Given the description of an element on the screen output the (x, y) to click on. 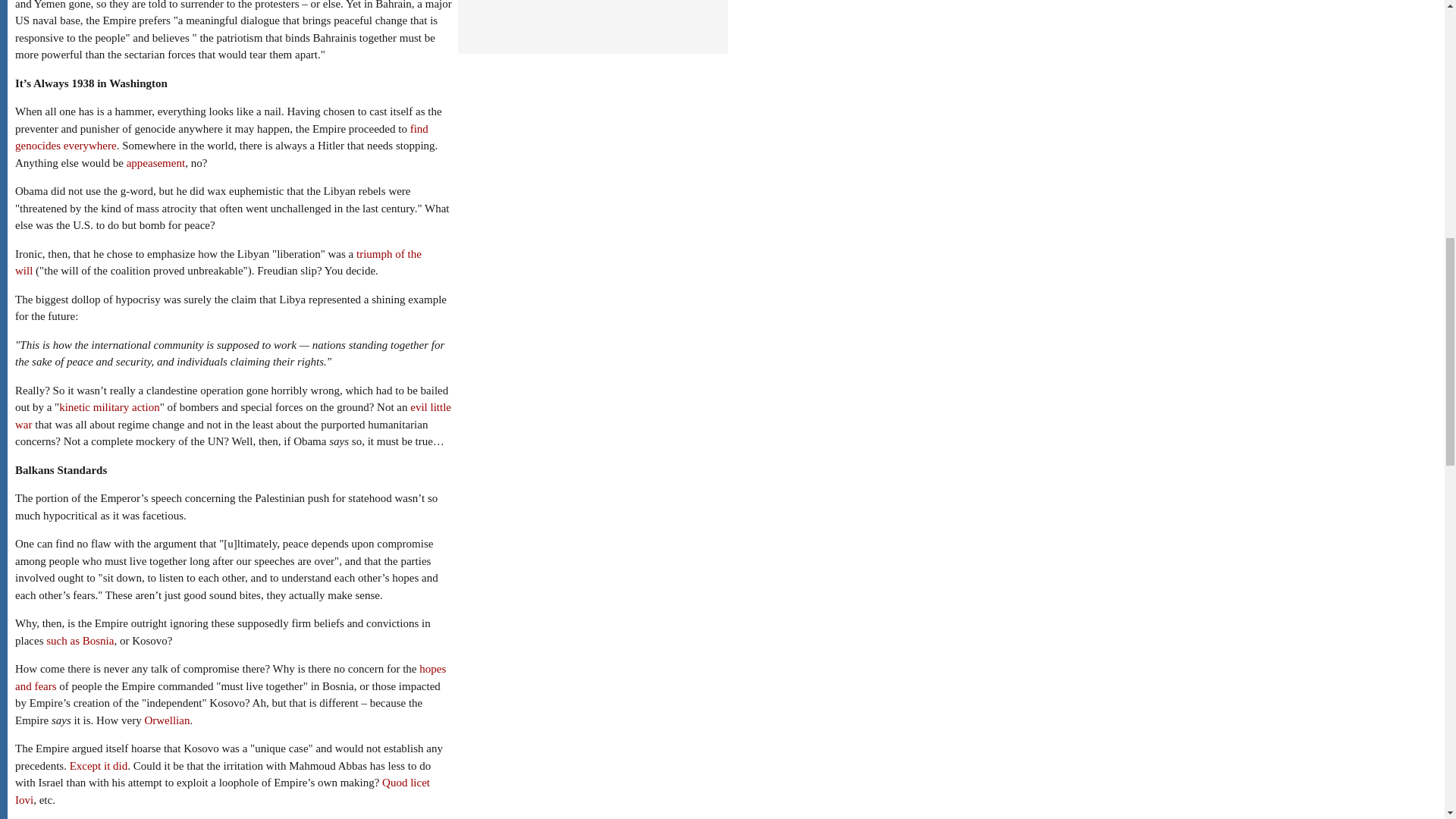
Quod licet Iovi (221, 790)
Except it did (98, 766)
evil little war (232, 415)
Orwellian (166, 720)
hopes and fears (229, 677)
appeasement (155, 162)
find genocides everywhere (221, 137)
triumph of the will (218, 262)
kinetic military action (108, 407)
such as Bosnia (79, 640)
